Given the description of an element on the screen output the (x, y) to click on. 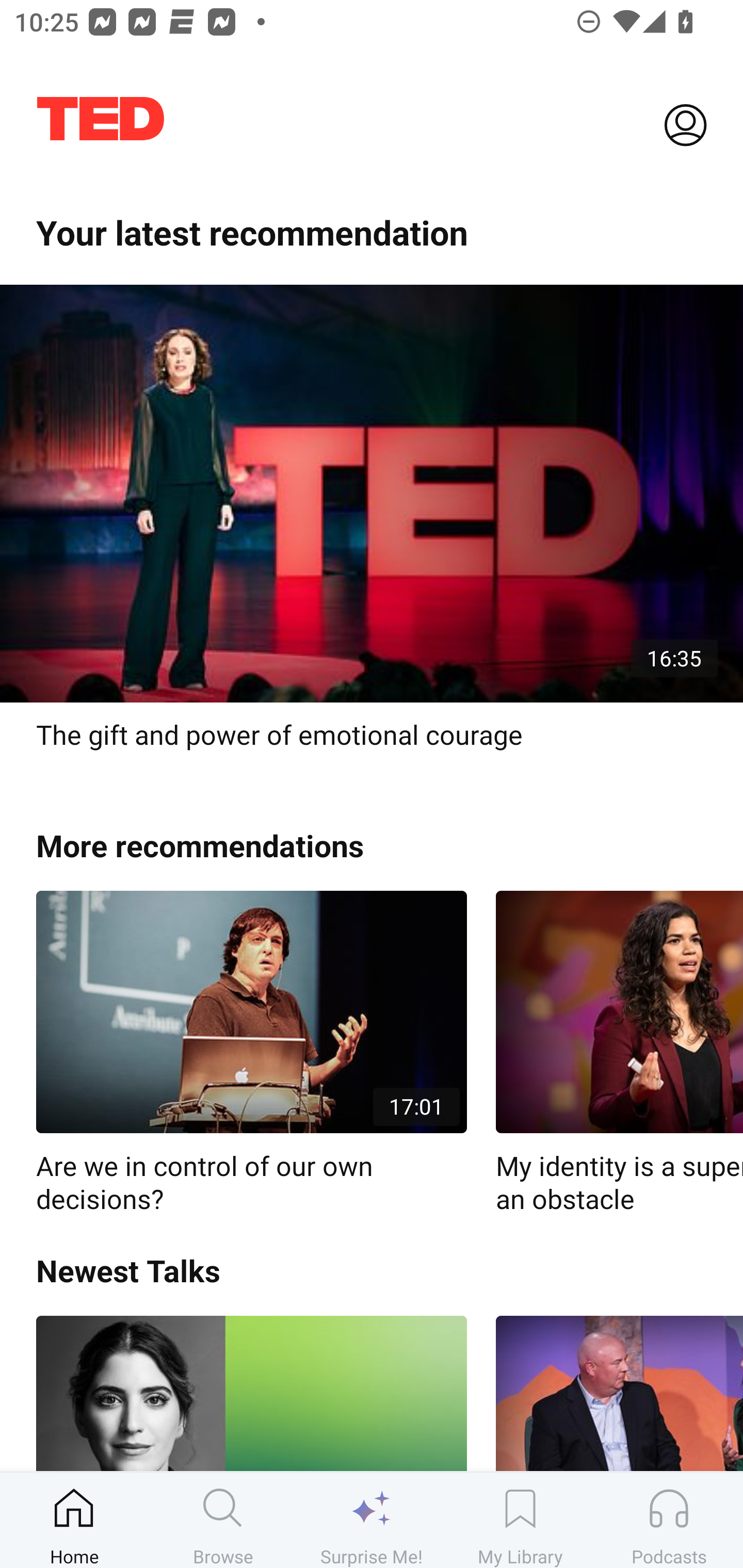
17:01 Are we in control of our own decisions? (251, 1053)
My identity is a superpower -- not an obstacle (619, 1053)
Home (74, 1520)
Browse (222, 1520)
Surprise Me! (371, 1520)
My Library (519, 1520)
Podcasts (668, 1520)
